Given the description of an element on the screen output the (x, y) to click on. 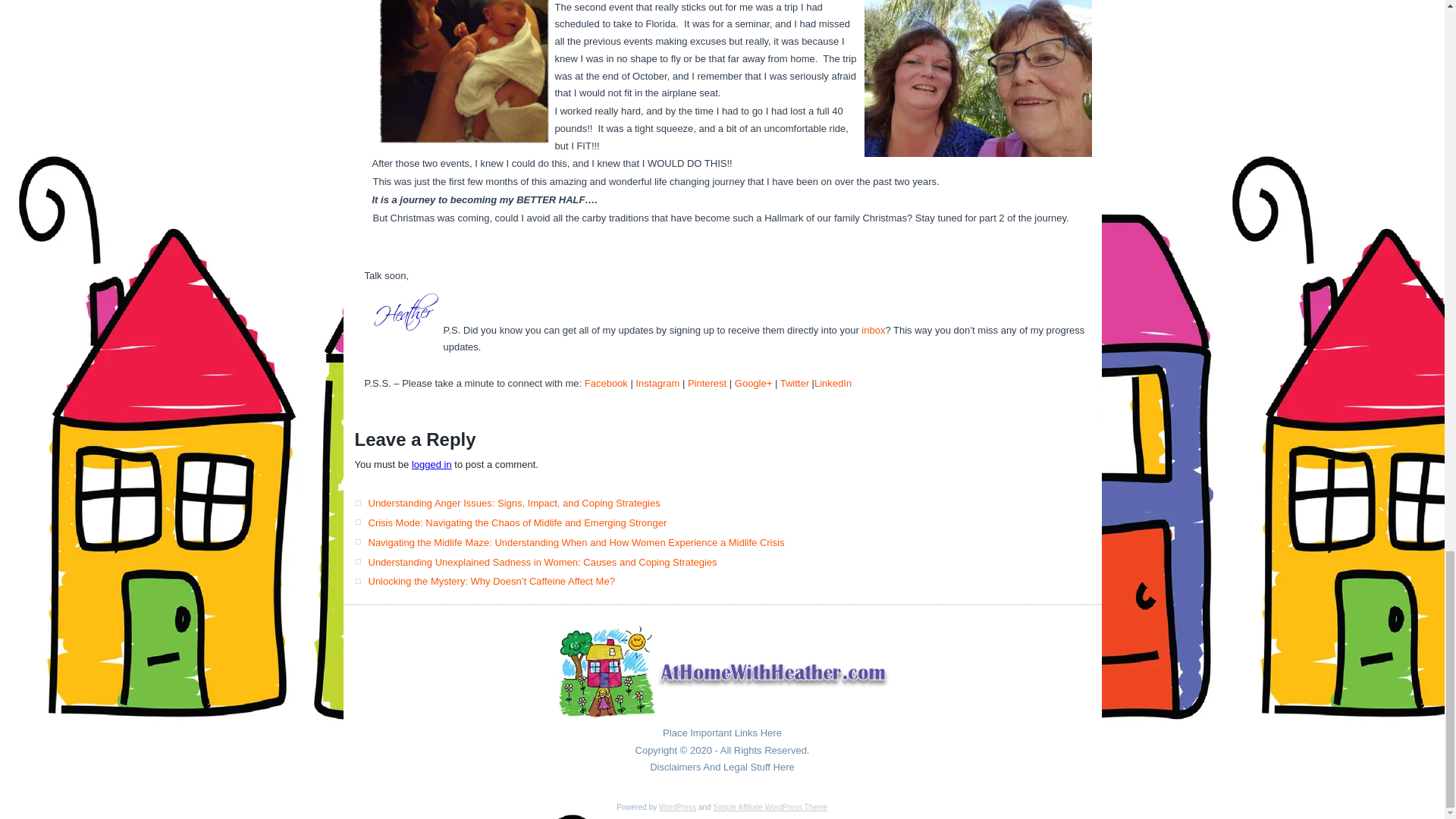
Twitter (794, 383)
Baby D and Grandma when he was still in the NICU (462, 72)
Facebook (606, 383)
My mom and me in Florida (978, 78)
Simple Affiliate WordPress Theme (770, 807)
inbox (872, 329)
